Given the description of an element on the screen output the (x, y) to click on. 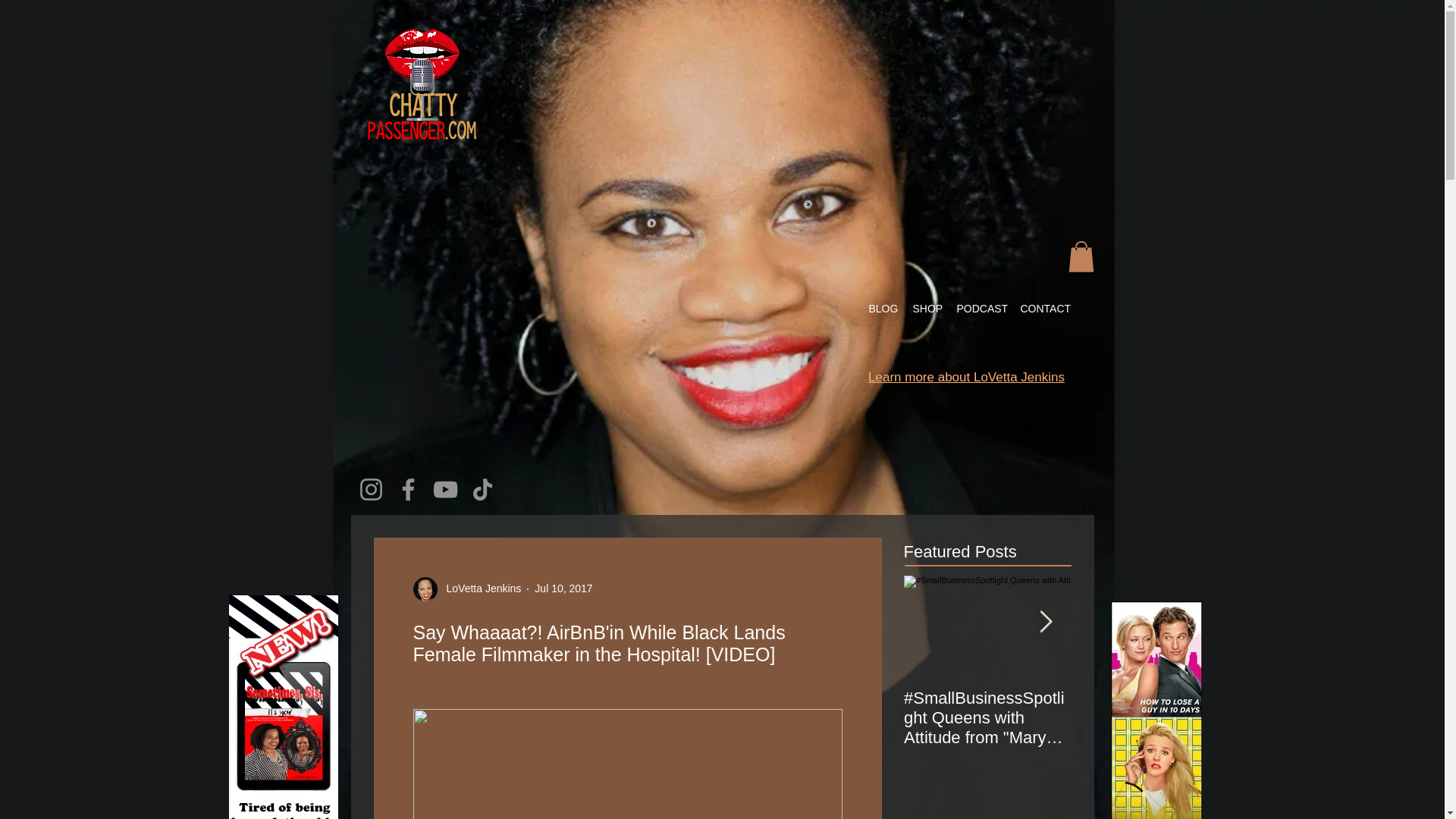
Jul 10, 2017 (563, 588)
LoVetta Jenkins (478, 588)
CONTACT (1045, 308)
SHOP (927, 308)
LoVetta Jenkins (466, 589)
BLOG (882, 308)
Learn more about LoVetta Jenkins (965, 377)
PODCAST (980, 308)
